Given the description of an element on the screen output the (x, y) to click on. 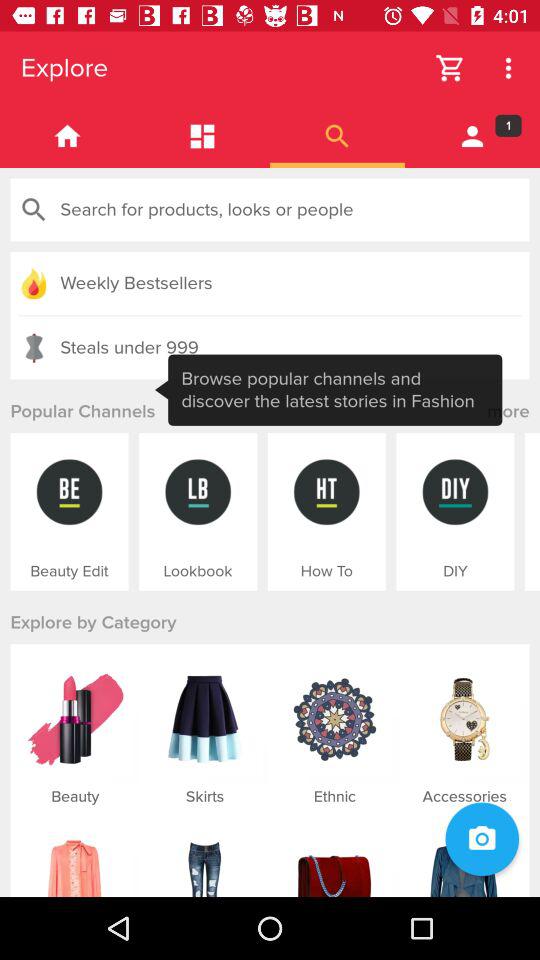
take photo (482, 839)
